Given the description of an element on the screen output the (x, y) to click on. 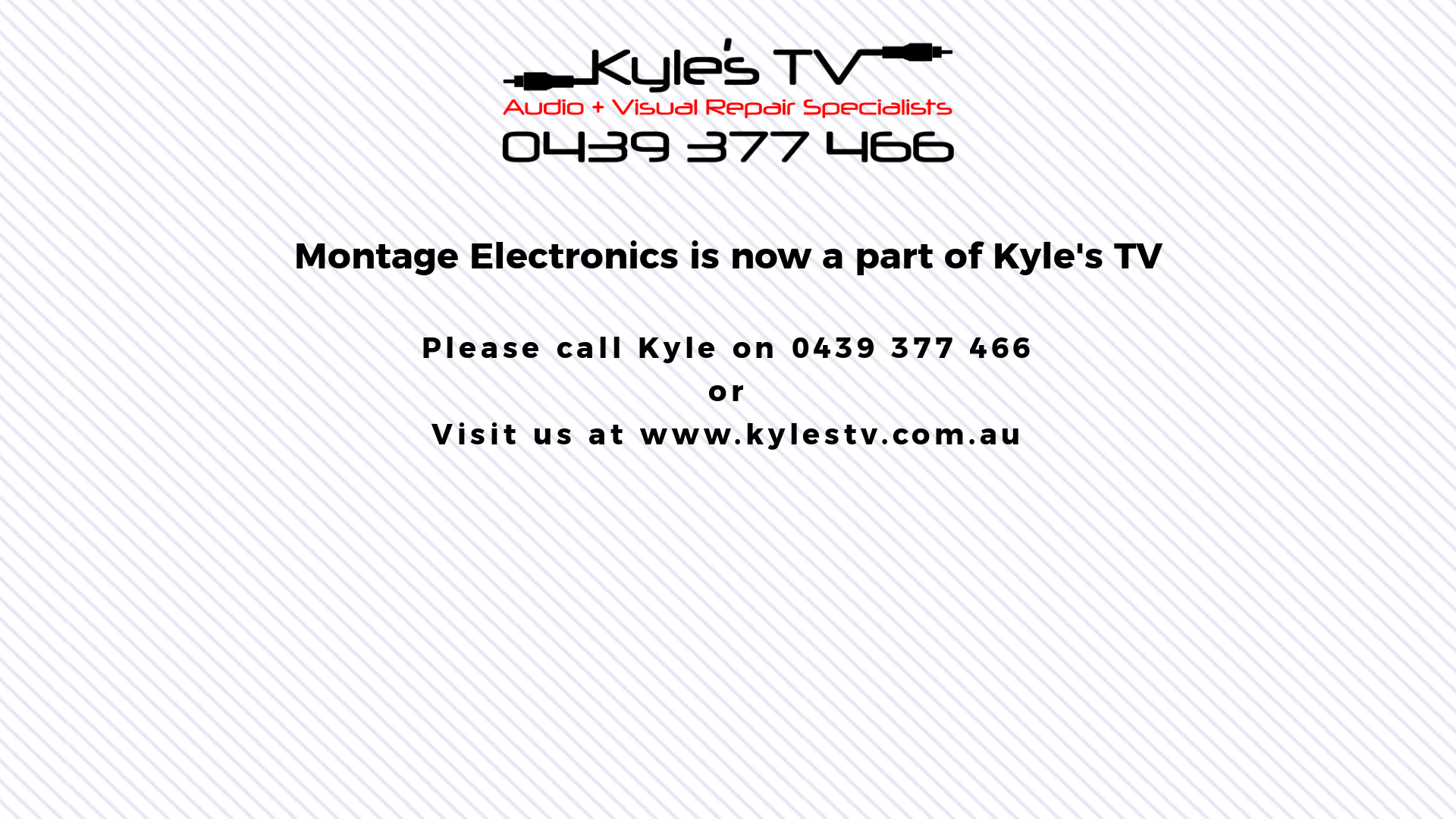
www.kylestv.com.au Element type: text (832, 433)
0439 377 466 Element type: text (912, 347)
